Given the description of an element on the screen output the (x, y) to click on. 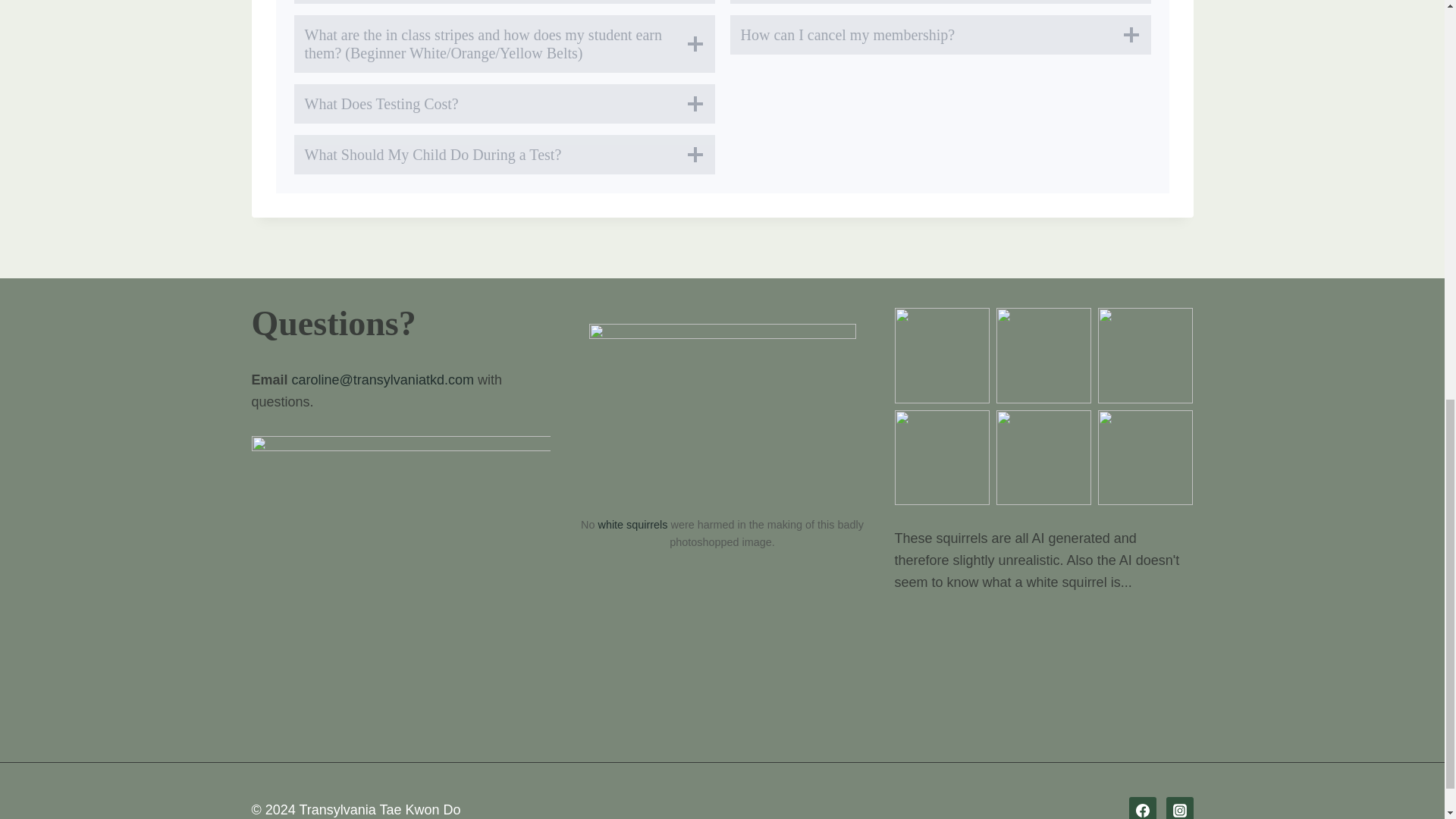
white squirrels (633, 524)
How can I cancel my membership? (939, 34)
What Does Testing Cost? (504, 103)
What Should My Child Do During a Test? (504, 154)
